Given the description of an element on the screen output the (x, y) to click on. 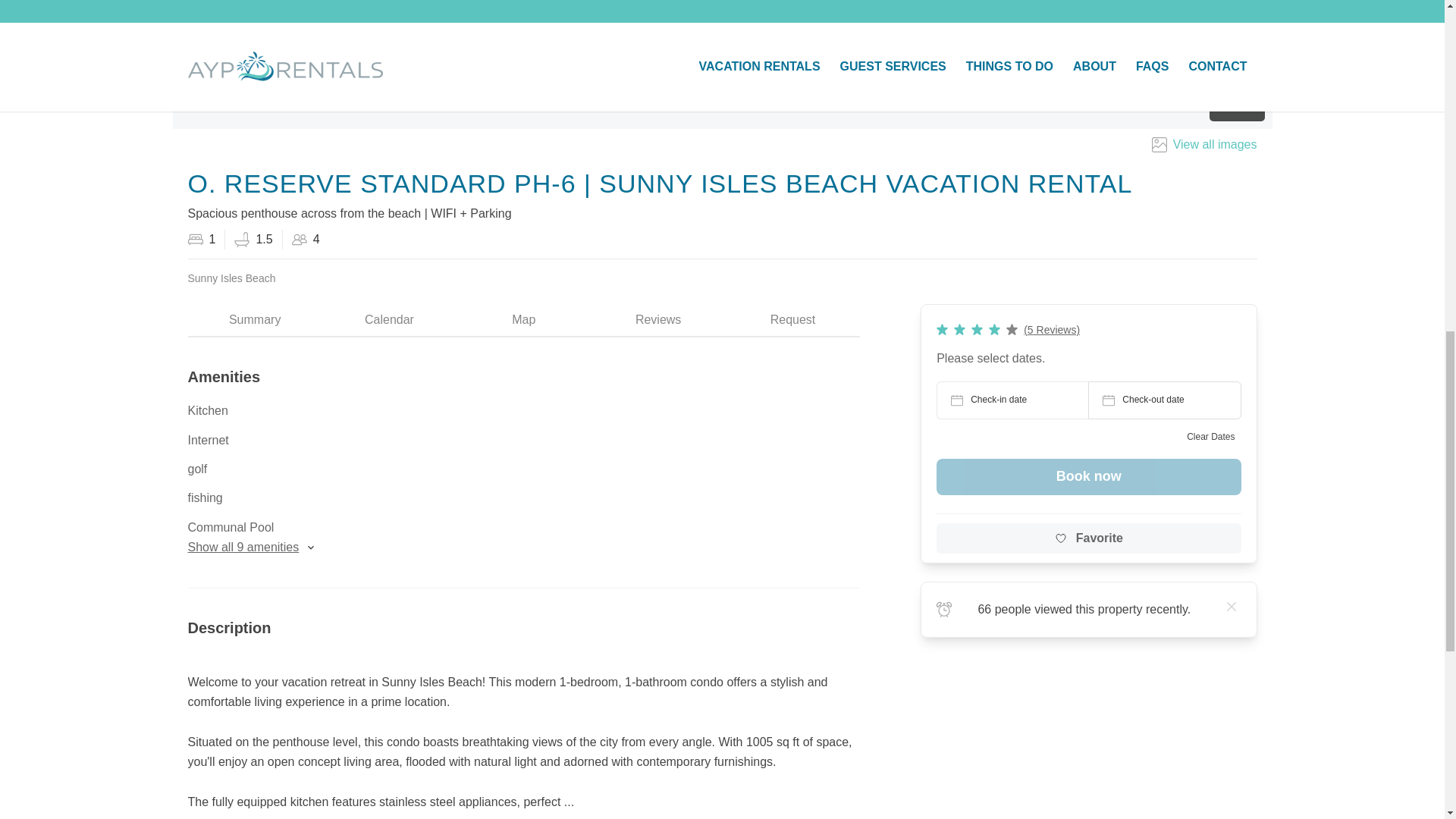
Reviews (658, 320)
Map (524, 320)
Check-out date (1163, 399)
Calendar (389, 320)
View all images (1201, 144)
Check-in date (1011, 399)
Summary (254, 320)
Request (792, 320)
